Given the description of an element on the screen output the (x, y) to click on. 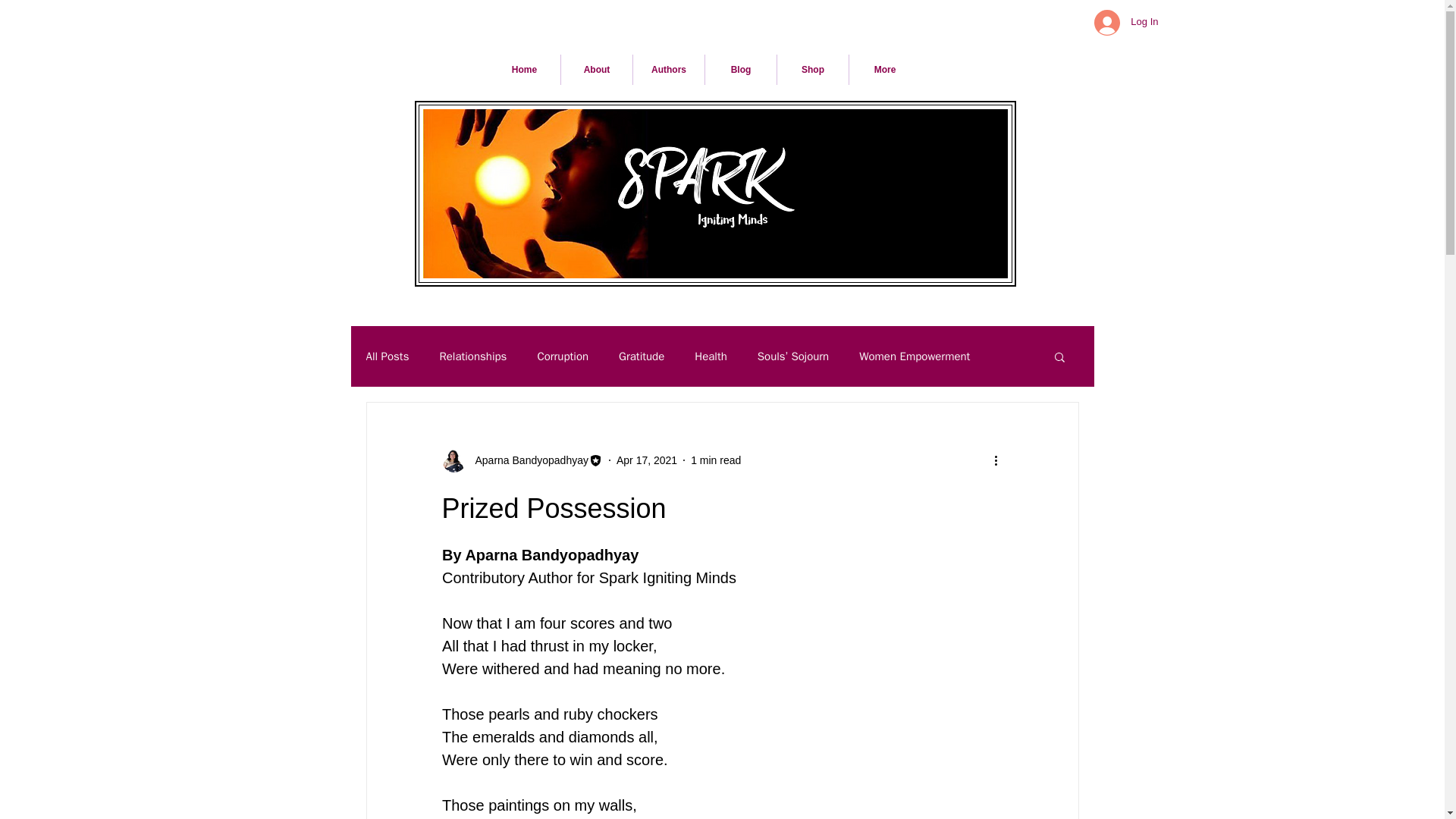
Health (710, 355)
Aparna Bandyopadhyay (526, 459)
Apr 17, 2021 (646, 459)
Shop (812, 69)
Relationships (472, 355)
All Posts (387, 355)
Log In (1126, 21)
Authors (668, 69)
Home (523, 69)
Gratitude (640, 355)
Blog (740, 69)
About (595, 69)
Aparna Bandyopadhyay (521, 459)
Women Empowerment (914, 355)
1 min read (715, 459)
